Given the description of an element on the screen output the (x, y) to click on. 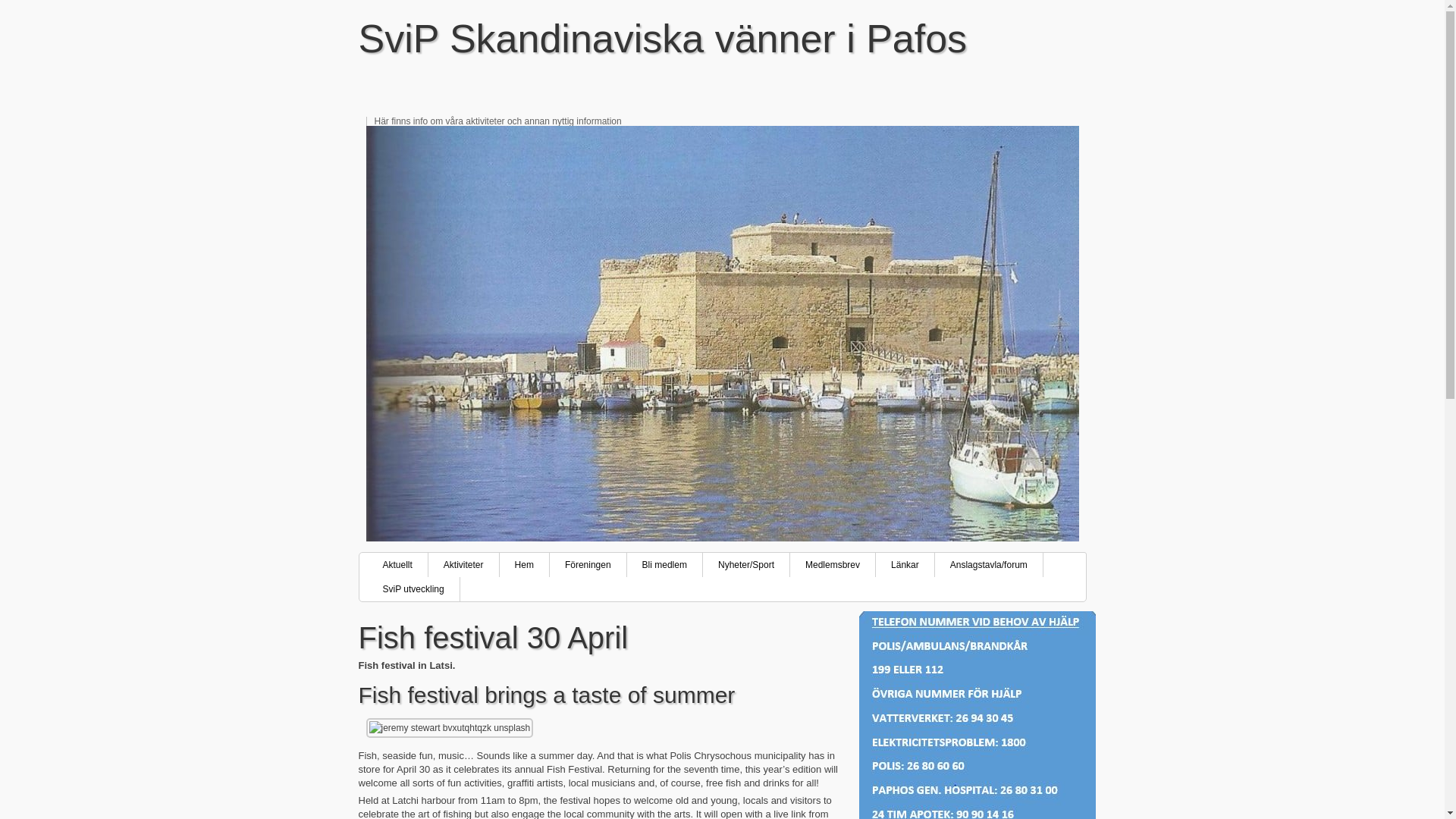
Hem (524, 564)
Aktuellt (397, 564)
SviP utveckling (413, 589)
Medlemsbrev (833, 564)
Bli medlem (665, 564)
Aktiviteter (463, 564)
